Given the description of an element on the screen output the (x, y) to click on. 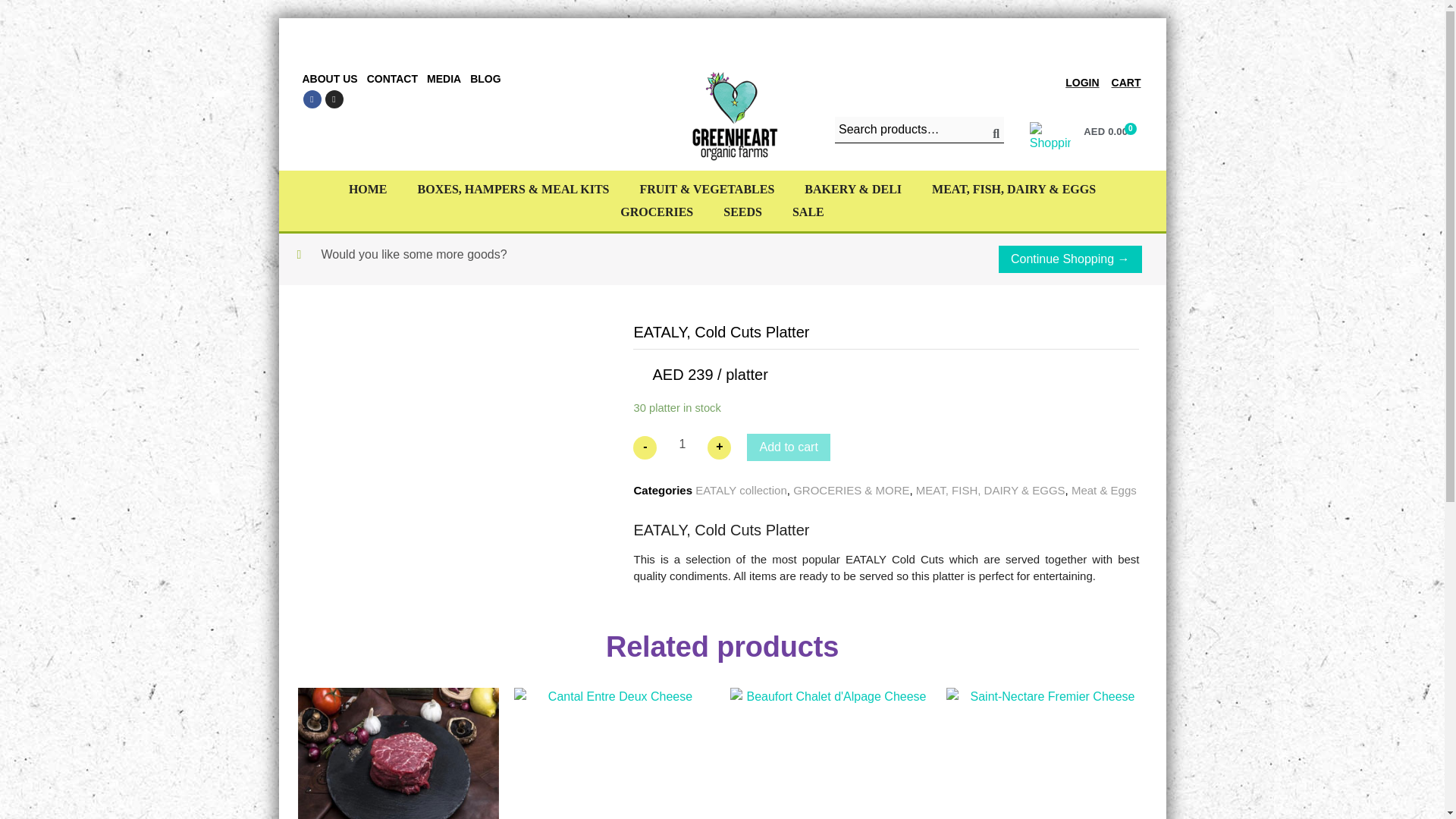
HOME (368, 189)
CART (1126, 82)
ABOUT US (329, 78)
BLOG (485, 78)
CONTACT (392, 78)
MEDIA (443, 78)
Qty (682, 446)
1 (682, 446)
Greenheart Organic Farms Dubai (733, 116)
AED 0.00 (1109, 130)
LOGIN (1082, 82)
